Given the description of an element on the screen output the (x, y) to click on. 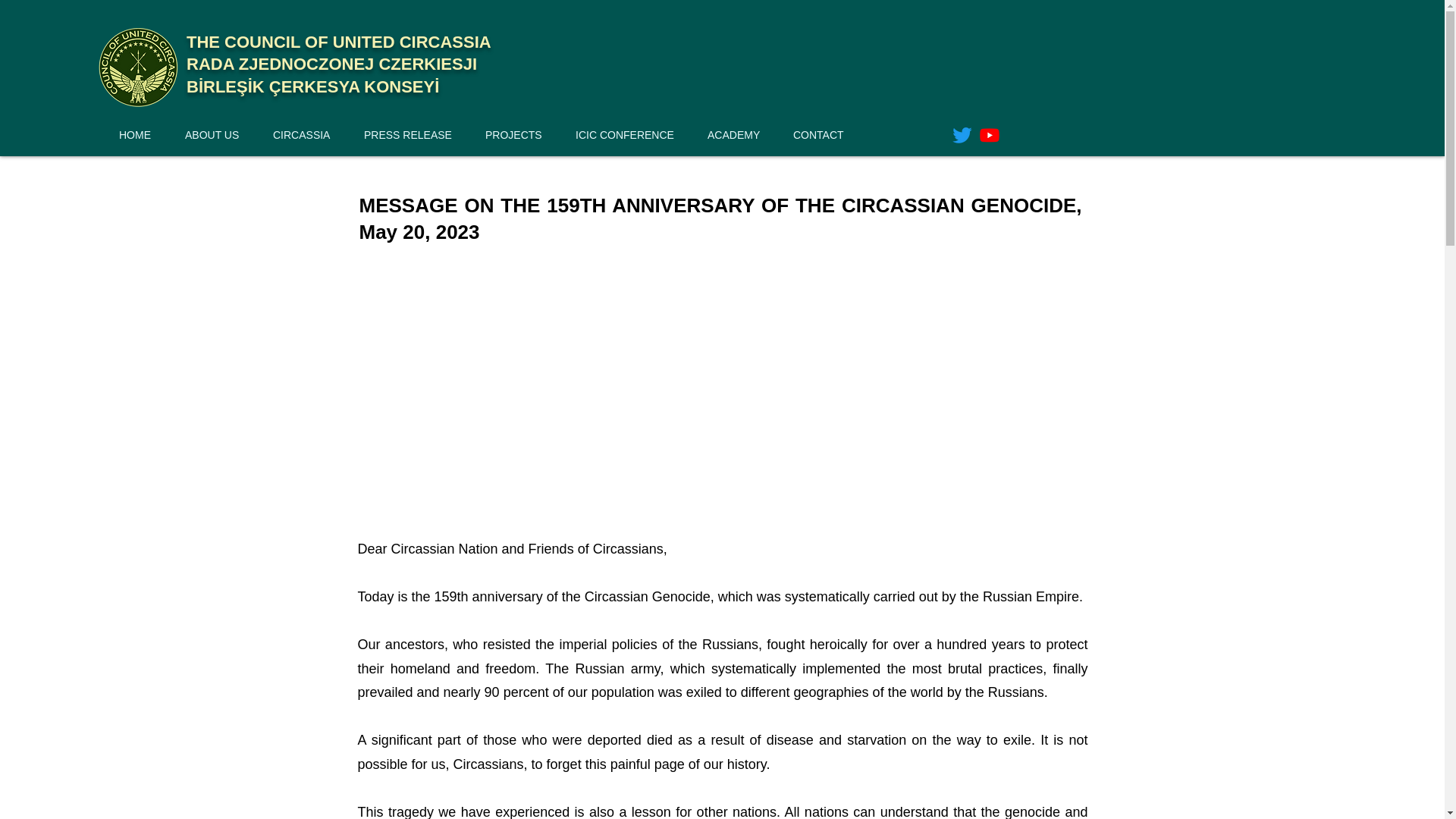
THE COUNCIL OF UNITED CIRCASSIA (339, 41)
HOME (144, 134)
